Given the description of an element on the screen output the (x, y) to click on. 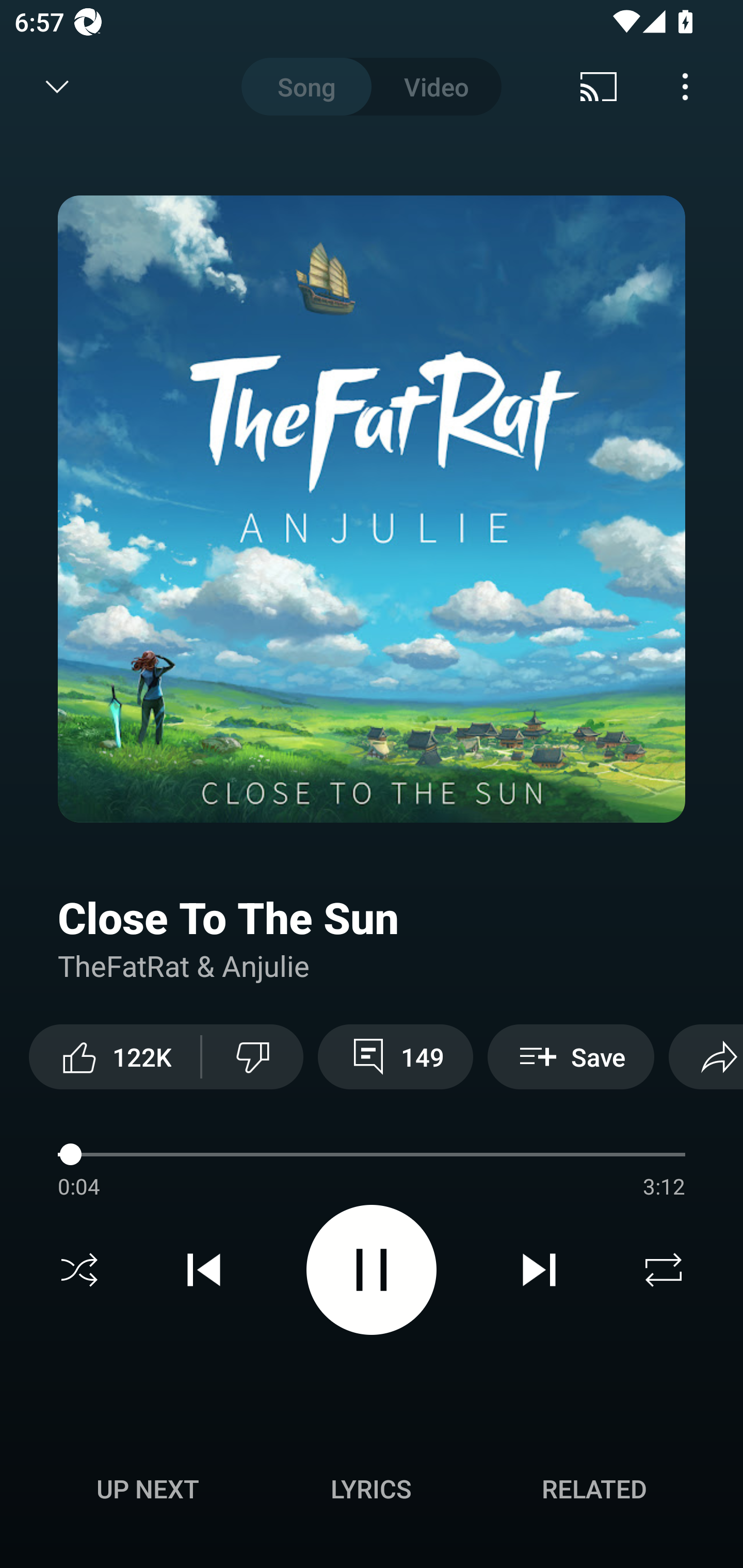
Minimize (57, 86)
Cast. Disconnected (598, 86)
Menu (684, 86)
Dislike (252, 1056)
149 View 149 comments (395, 1056)
Save Save to playlist (570, 1056)
Share (705, 1056)
Pause video (371, 1269)
Shuffle off (79, 1269)
Previous track (203, 1269)
Next track (538, 1269)
Repeat off (663, 1269)
Up next UP NEXT Lyrics LYRICS Related RELATED (371, 1491)
Lyrics LYRICS (370, 1488)
Related RELATED (594, 1488)
